Given the description of an element on the screen output the (x, y) to click on. 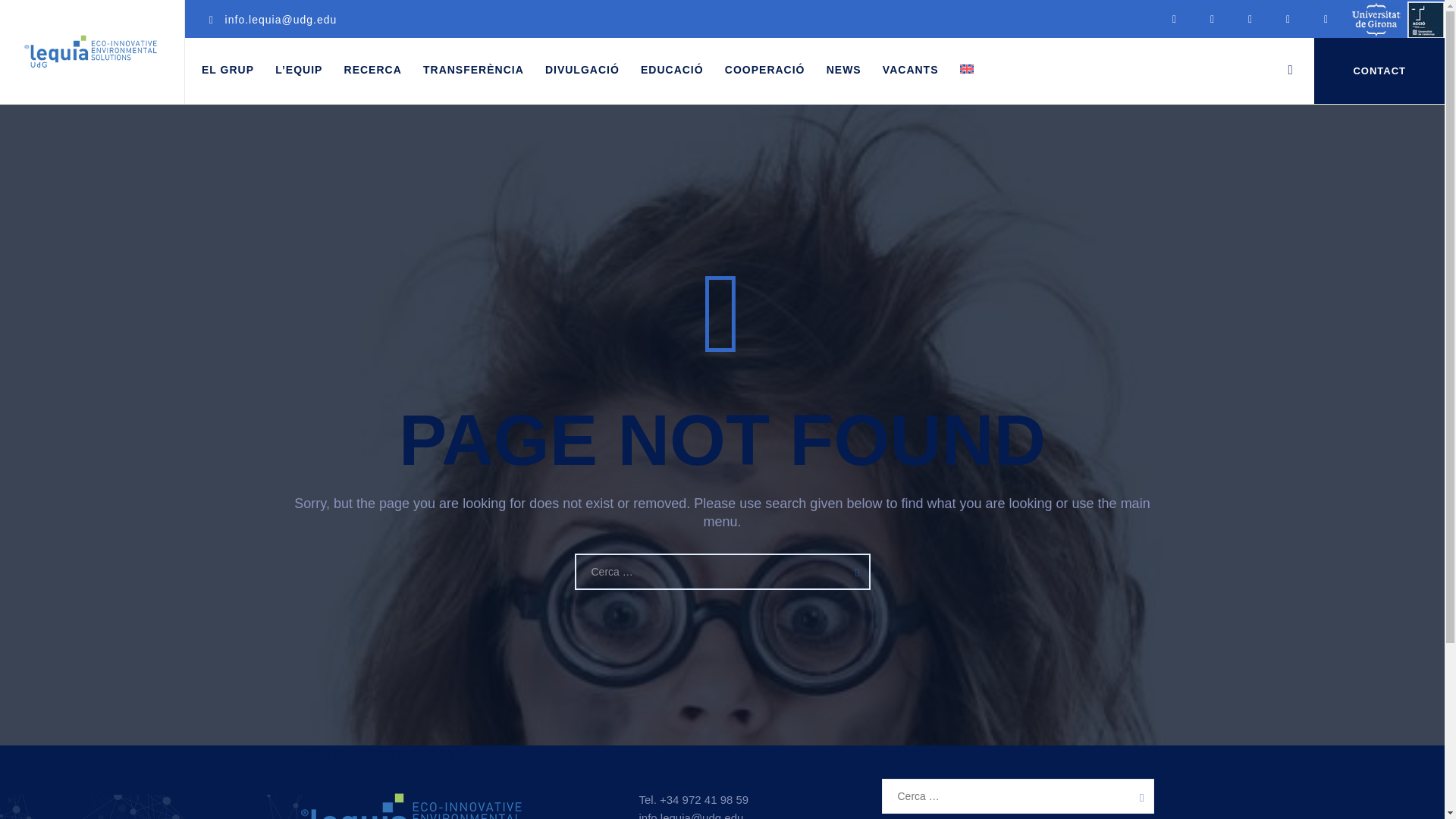
RECERCA (372, 69)
Facebook (1326, 18)
Twitter (1174, 18)
Cerca (1136, 796)
Instagram (1250, 18)
LinkedIn (1212, 18)
Cerca (852, 570)
Cerca (852, 570)
Link (1290, 69)
Lequia (90, 51)
